Given the description of an element on the screen output the (x, y) to click on. 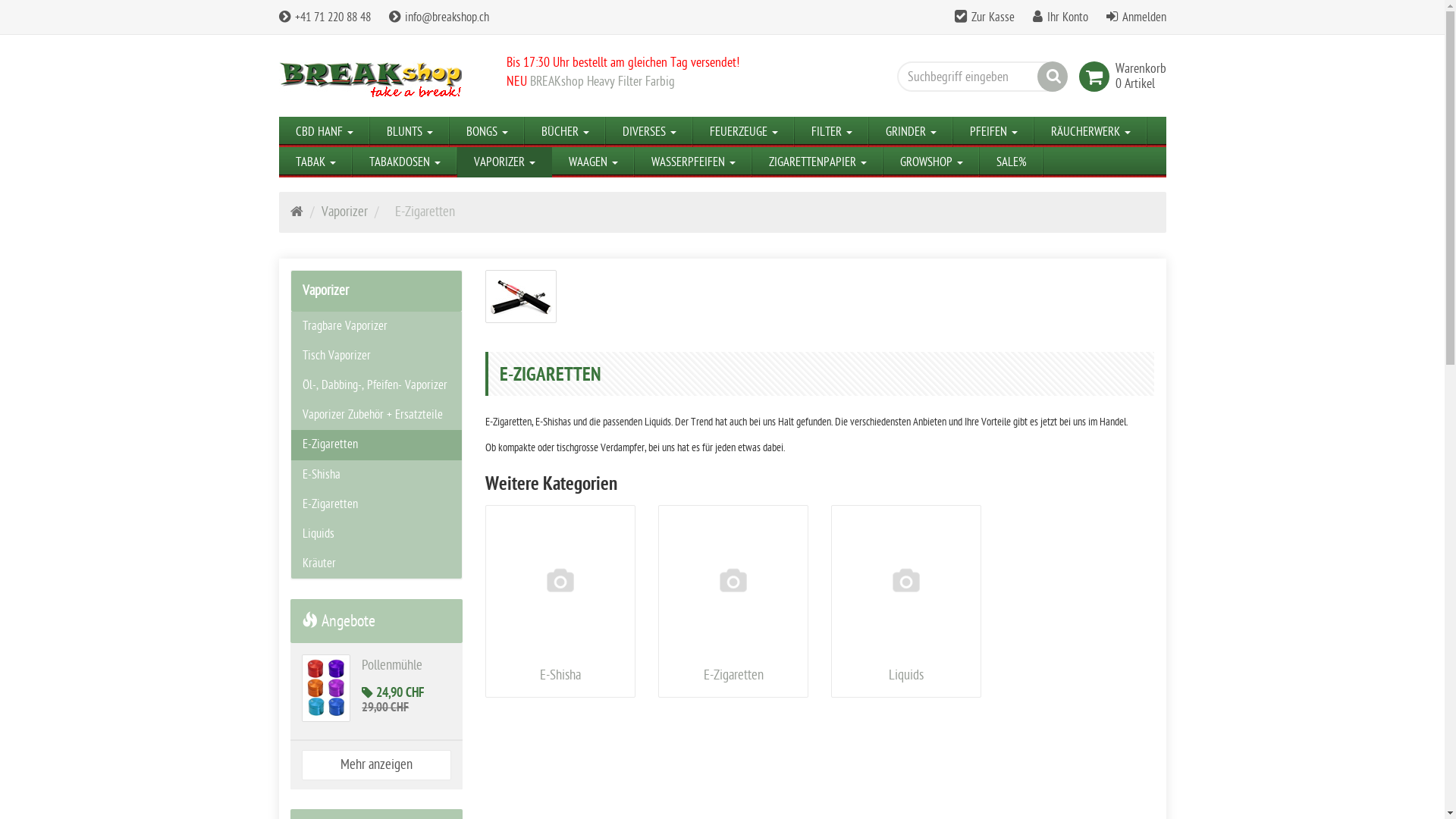
Liquids Element type: text (905, 675)
Tragbare Vaporizer Element type: text (376, 326)
Mehr anzeigen Element type: text (376, 764)
WASSERPFEIFEN Element type: text (692, 162)
E-Shisha Element type: text (376, 474)
Vaporizer Element type: text (344, 211)
Angebote Element type: text (338, 620)
TABAKDOSEN Element type: text (403, 162)
Liquids Element type: text (906, 601)
Vaporizer Element type: text (375, 291)
E-Zigaretten Element type: text (733, 601)
FEUERZEUGE Element type: text (743, 131)
DIVERSES Element type: text (648, 131)
E-Zigaretten Element type: text (424, 211)
WAAGEN Element type: text (593, 162)
BLUNTS Element type: text (409, 131)
Warenkorb
0 Artikel Element type: text (1116, 79)
info@breakshop.ch Element type: text (438, 17)
Anmelden Element type: text (1144, 17)
FILTER Element type: text (831, 131)
GROWSHOP Element type: text (930, 162)
E-Shisha Element type: text (560, 601)
E-Zigaretten Element type: text (376, 444)
Startseite Element type: text (295, 211)
Liquids Element type: text (376, 534)
TABAK Element type: text (315, 162)
E-Zigaretten Element type: text (376, 504)
Suchen Element type: text (1052, 76)
0 Artikel Element type: text (1134, 83)
E-Zigaretten Element type: hover (520, 296)
GRINDER Element type: text (911, 131)
ZIGARETTENPAPIER Element type: text (817, 162)
Zur Kasse Element type: text (991, 17)
SALE% Element type: text (1011, 162)
VAPORIZER Element type: text (503, 162)
CBD HANF Element type: text (324, 131)
+41 71 220 88 48 Element type: text (324, 17)
Tisch Vaporizer Element type: text (376, 355)
E-Zigaretten Element type: text (733, 675)
Ihr Konto Element type: text (1066, 17)
PFEIFEN Element type: text (992, 131)
BONGS Element type: text (486, 131)
E-Shisha Element type: text (559, 675)
BREAKshop Heavy Filter Farbig Element type: text (601, 81)
